Given the description of an element on the screen output the (x, y) to click on. 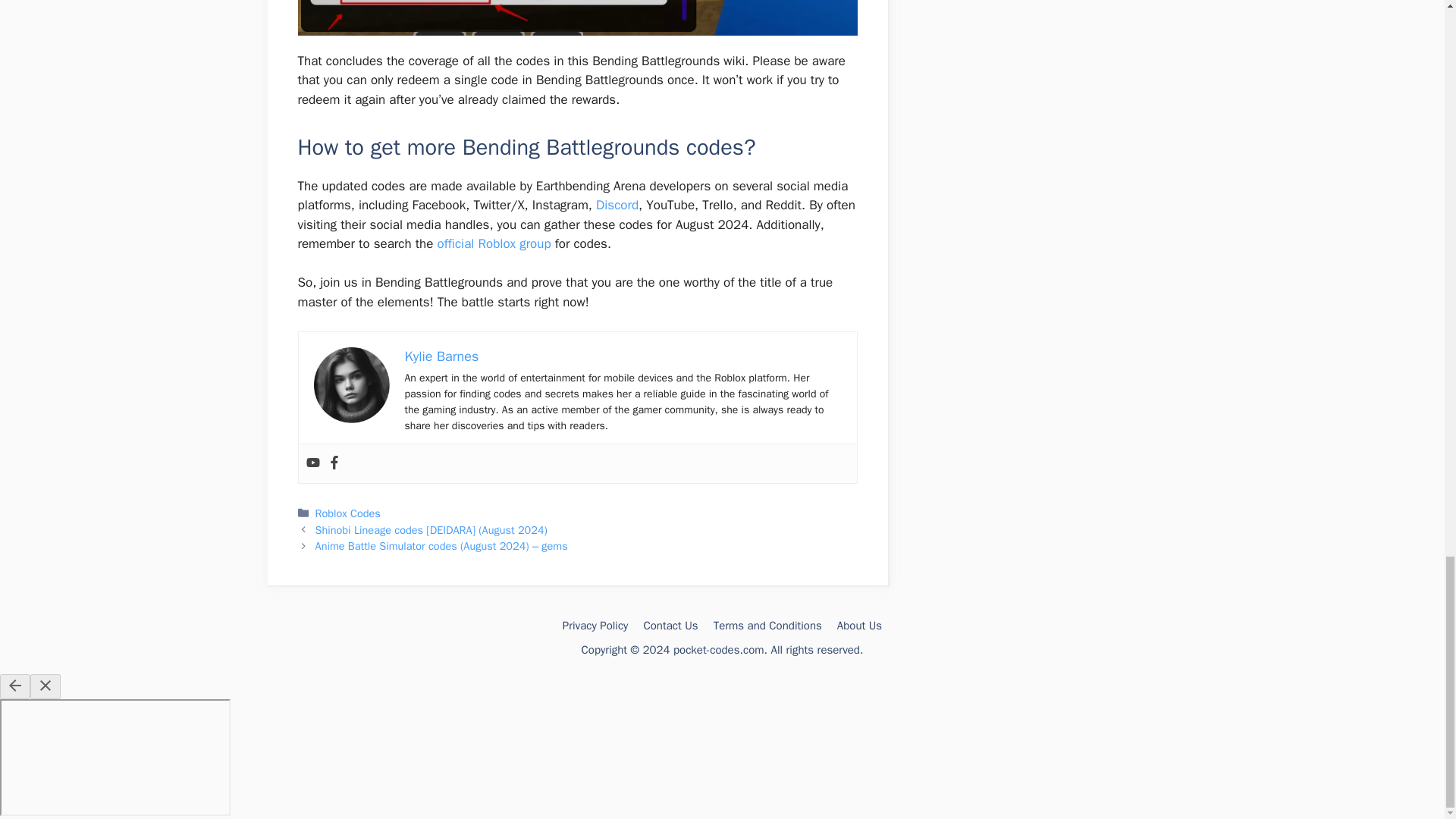
Kylie Barnes (441, 356)
Discord (617, 204)
Privacy Policy (595, 625)
Roblox Codes (347, 513)
Contact Us (670, 625)
About Us (859, 625)
Terms and Conditions (767, 625)
official Roblox group (494, 243)
